Given the description of an element on the screen output the (x, y) to click on. 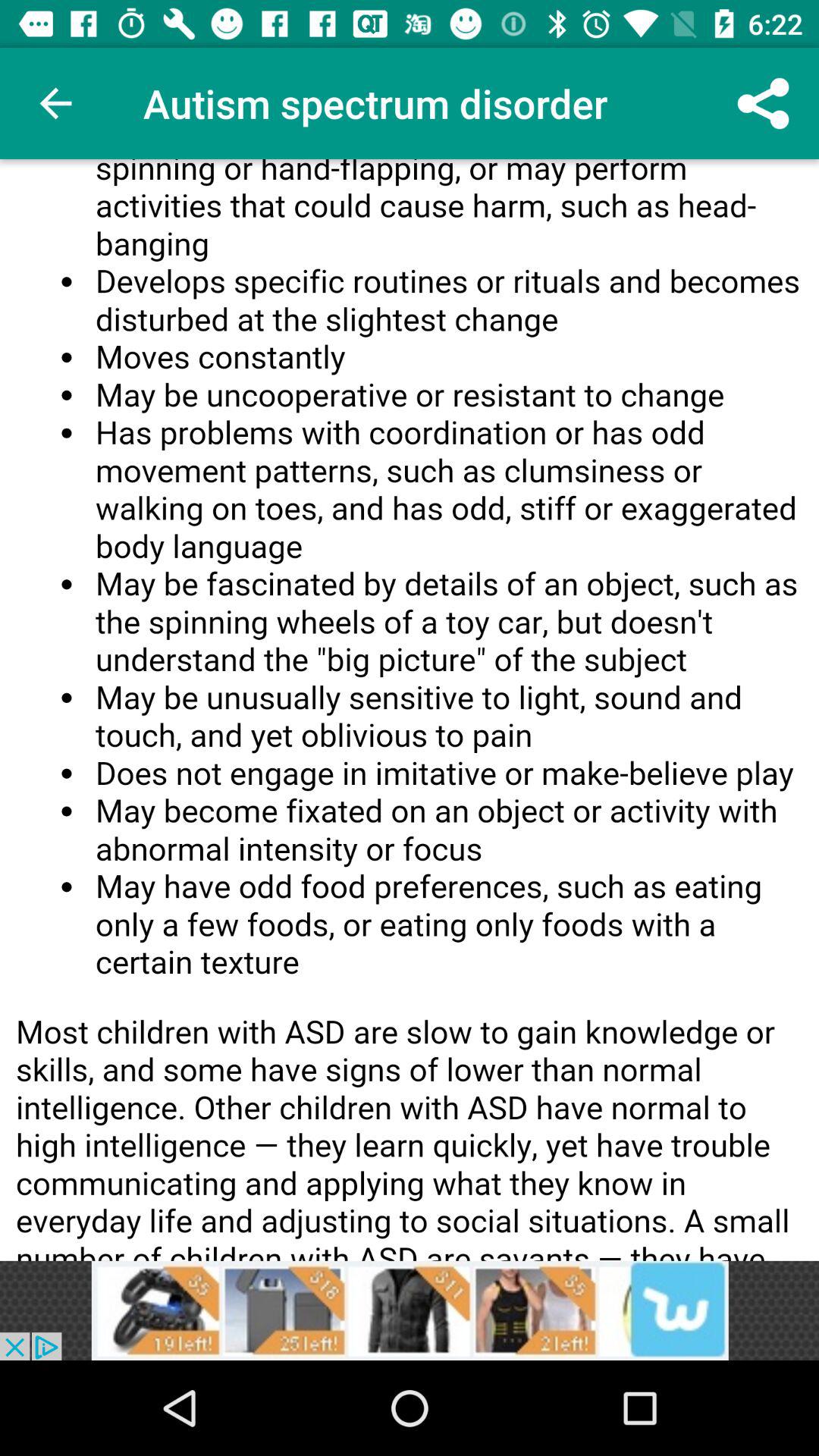
document (409, 709)
